Given the description of an element on the screen output the (x, y) to click on. 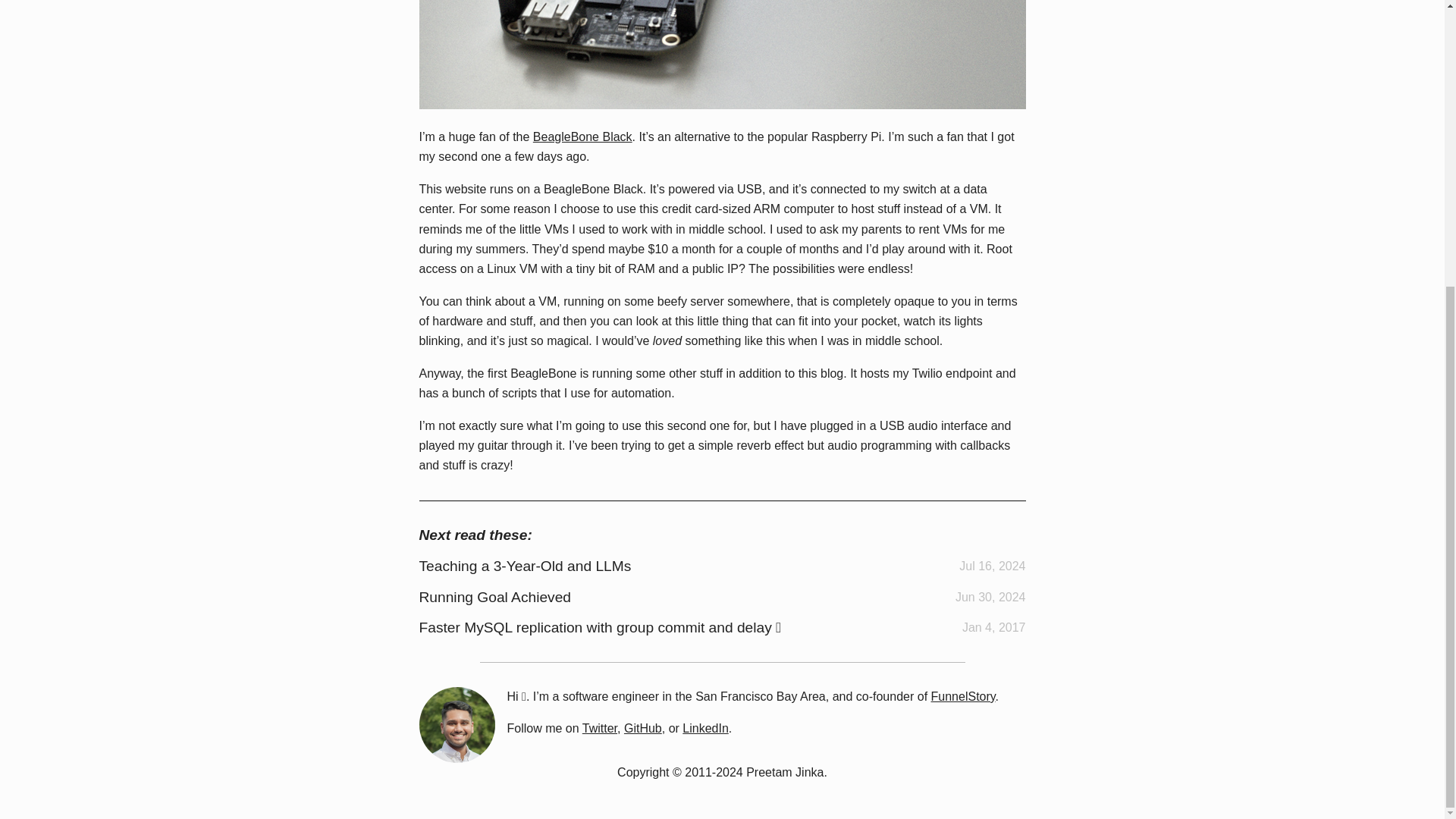
GitHub (643, 727)
Twitter (599, 727)
BeagleBone Black (581, 136)
LinkedIn (705, 727)
Running Goal Achieved (494, 596)
Teaching a 3-Year-Old and LLMs (524, 565)
Faster MySQL replication with group commit and delay (595, 627)
FunnelStory (963, 696)
